Given the description of an element on the screen output the (x, y) to click on. 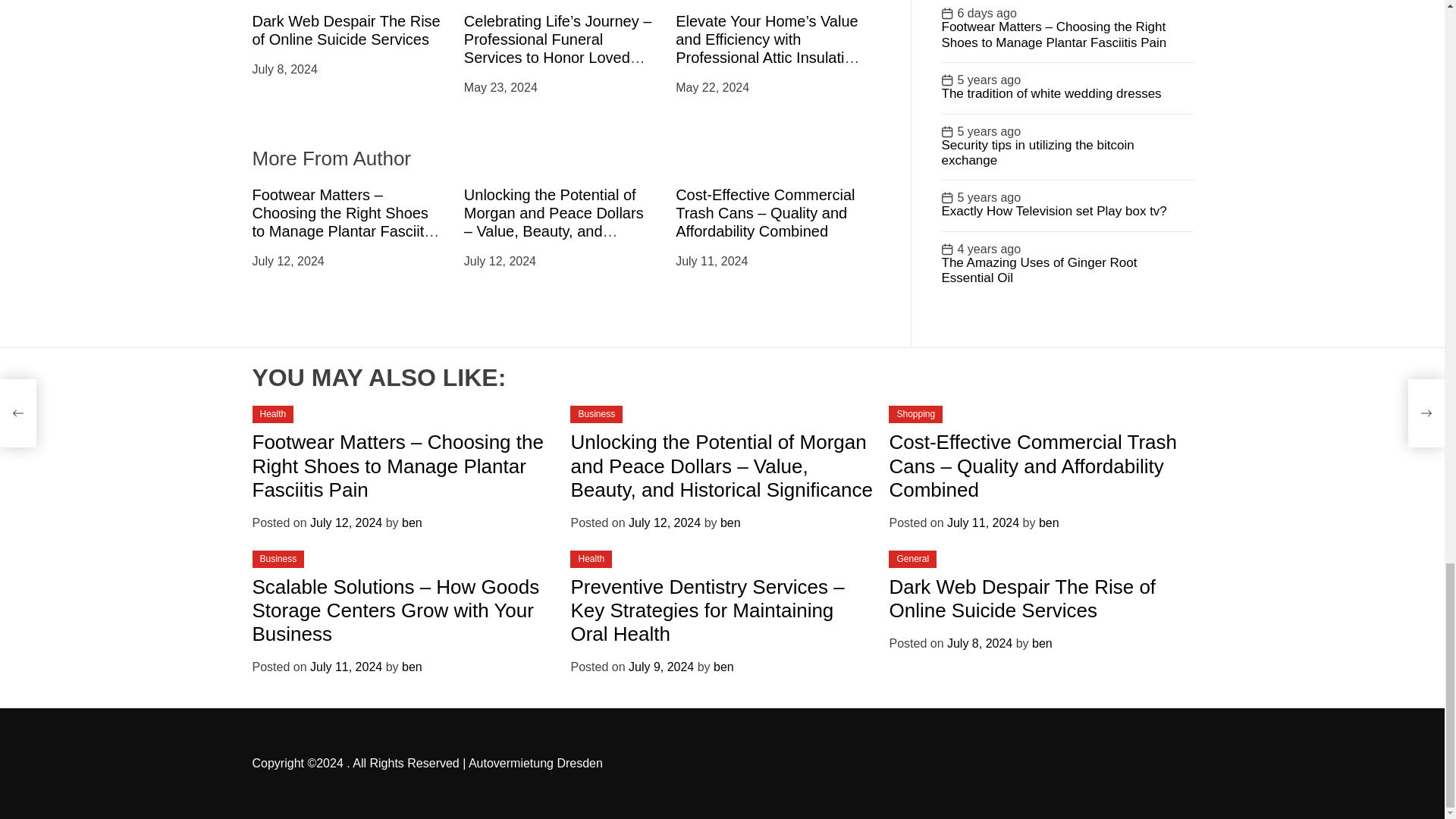
Dark Web Despair The Rise of Online Suicide Services (345, 30)
